Given the description of an element on the screen output the (x, y) to click on. 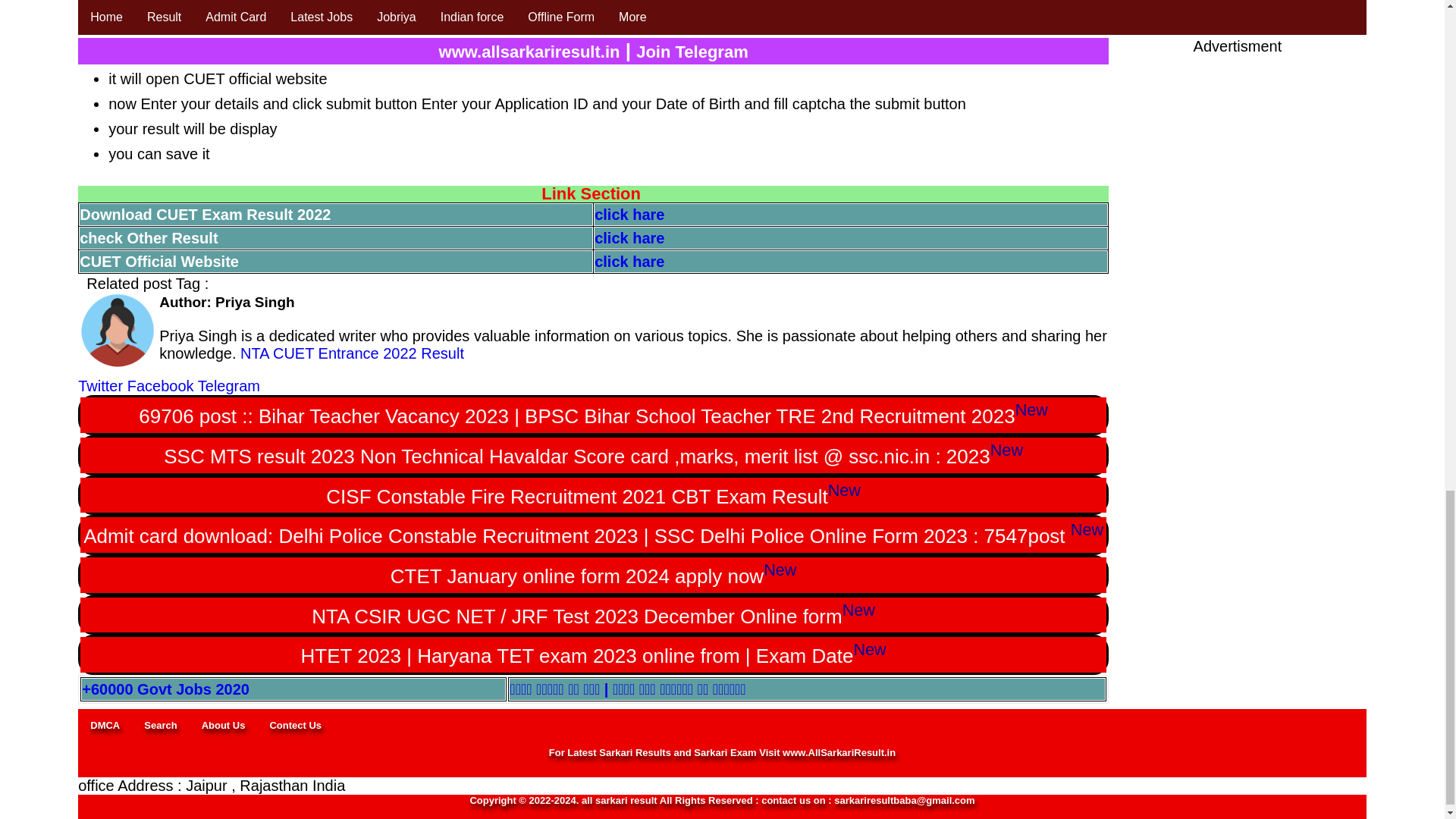
DMCA (105, 725)
Facebook (160, 385)
Twitter (100, 385)
CISF Constable Fire Recruitment 2021 CBT Exam ResultNew (593, 495)
click hare (628, 214)
click hare (628, 238)
NTA CUET Entrance 2022 Result (349, 352)
Search (160, 725)
CTET January online form 2024 apply nowNew (593, 574)
click hare (628, 261)
Telegram (229, 385)
